Given the description of an element on the screen output the (x, y) to click on. 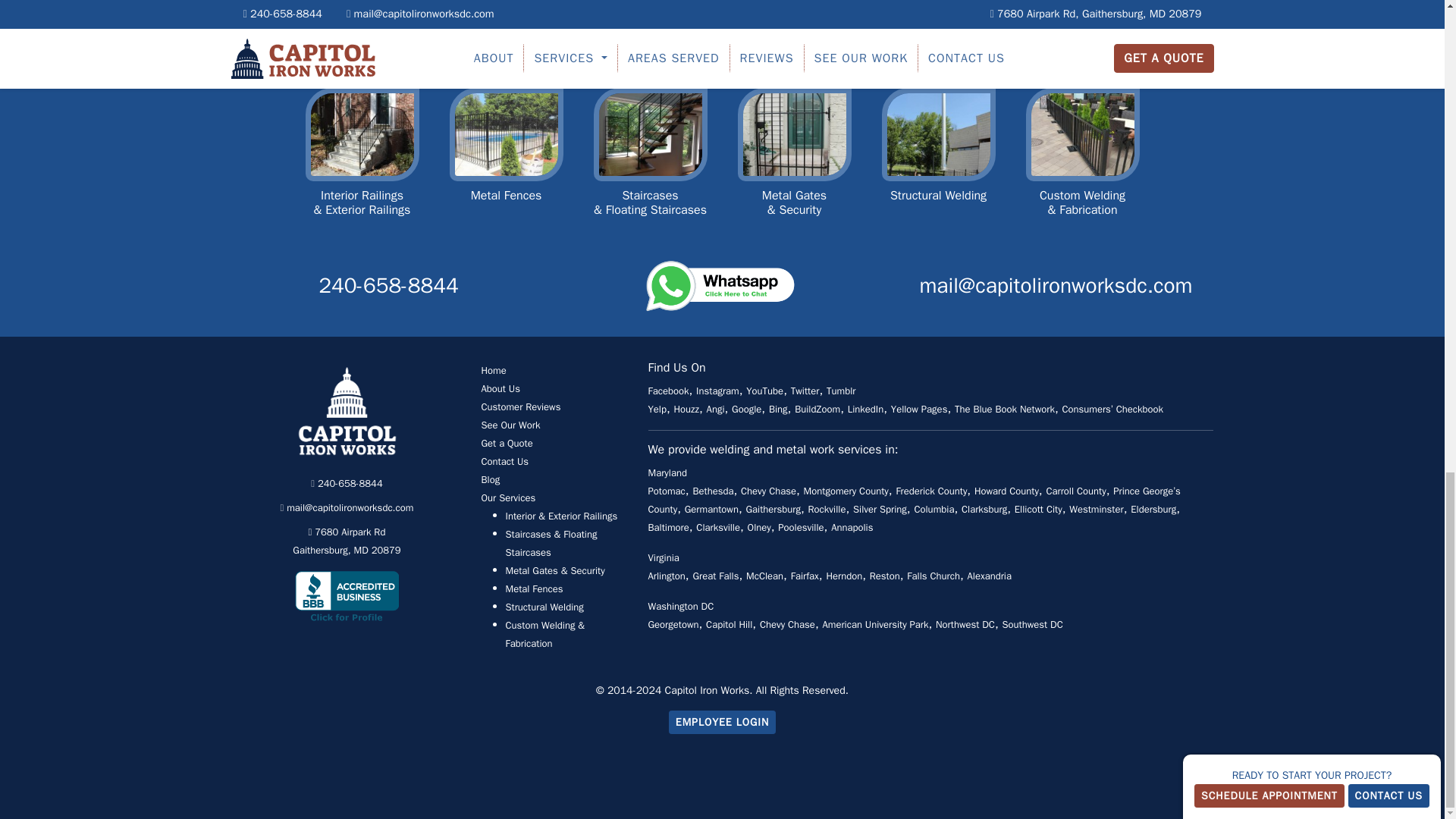
Contact Us (504, 461)
Blog (489, 479)
See Our Work (510, 424)
Get a Quote (506, 442)
240-658-8844 (346, 482)
Metal Fences (505, 165)
Home (492, 369)
Structural Welding (346, 540)
About Us (937, 165)
240-658-8844 (499, 388)
Customer Reviews (388, 284)
